Given the description of an element on the screen output the (x, y) to click on. 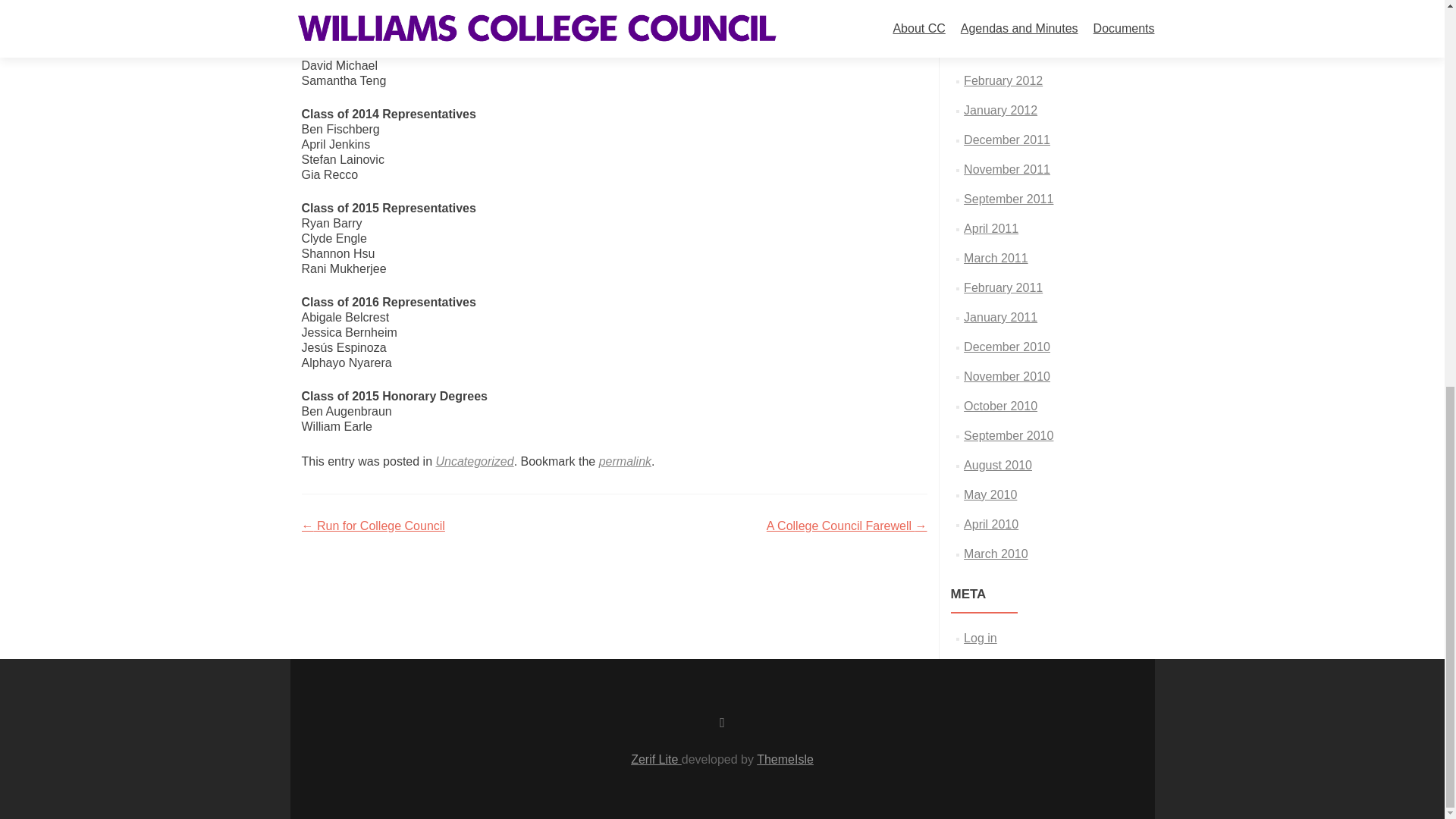
permalink (624, 461)
September 2011 (1007, 198)
April 2012 (990, 21)
Uncategorized (474, 461)
January 2012 (999, 110)
March 2012 (995, 51)
November 2011 (1006, 169)
December 2011 (1006, 139)
February 2012 (1002, 80)
